Given the description of an element on the screen output the (x, y) to click on. 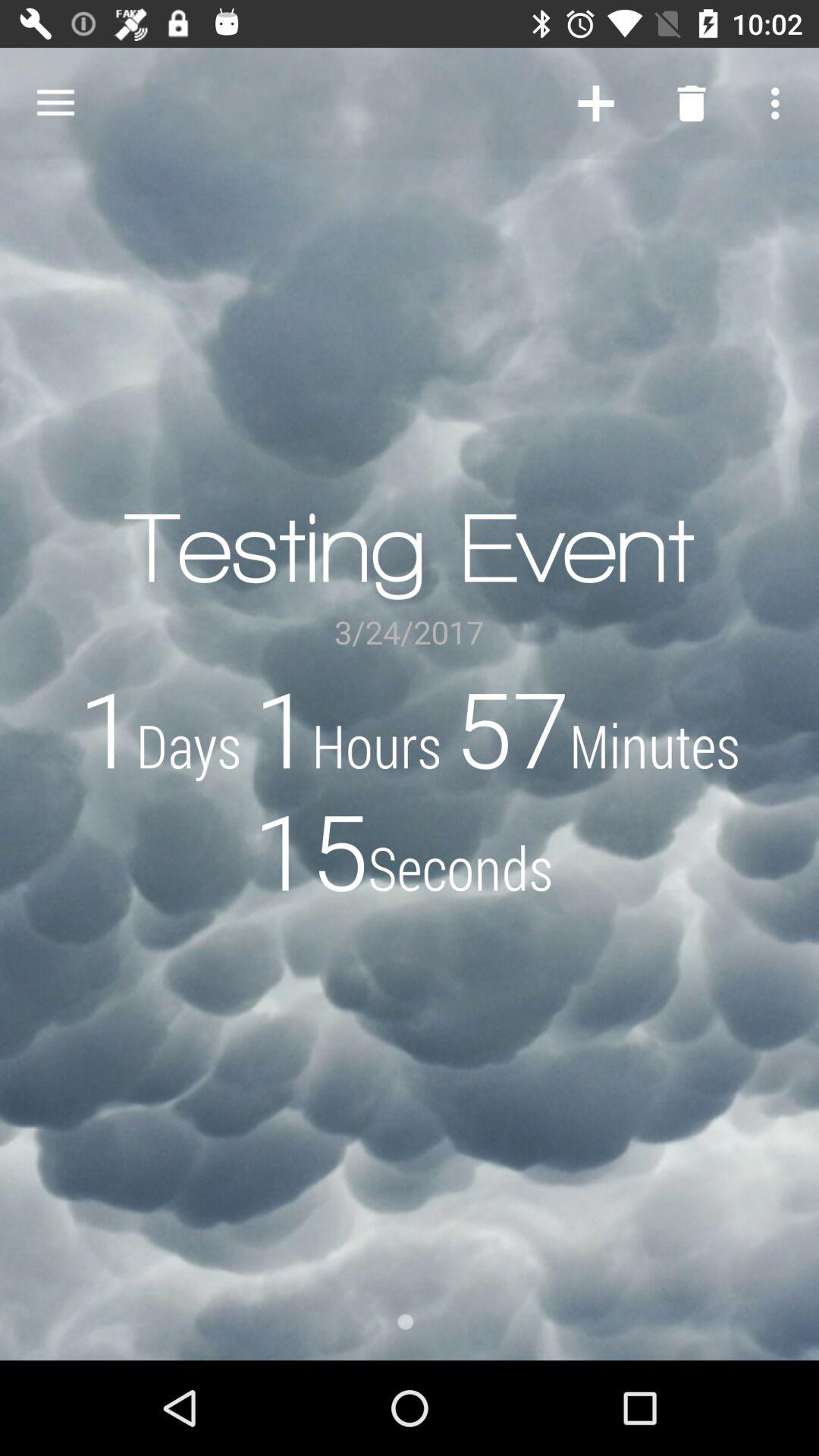
turn on the item above the testing event item (691, 103)
